Given the description of an element on the screen output the (x, y) to click on. 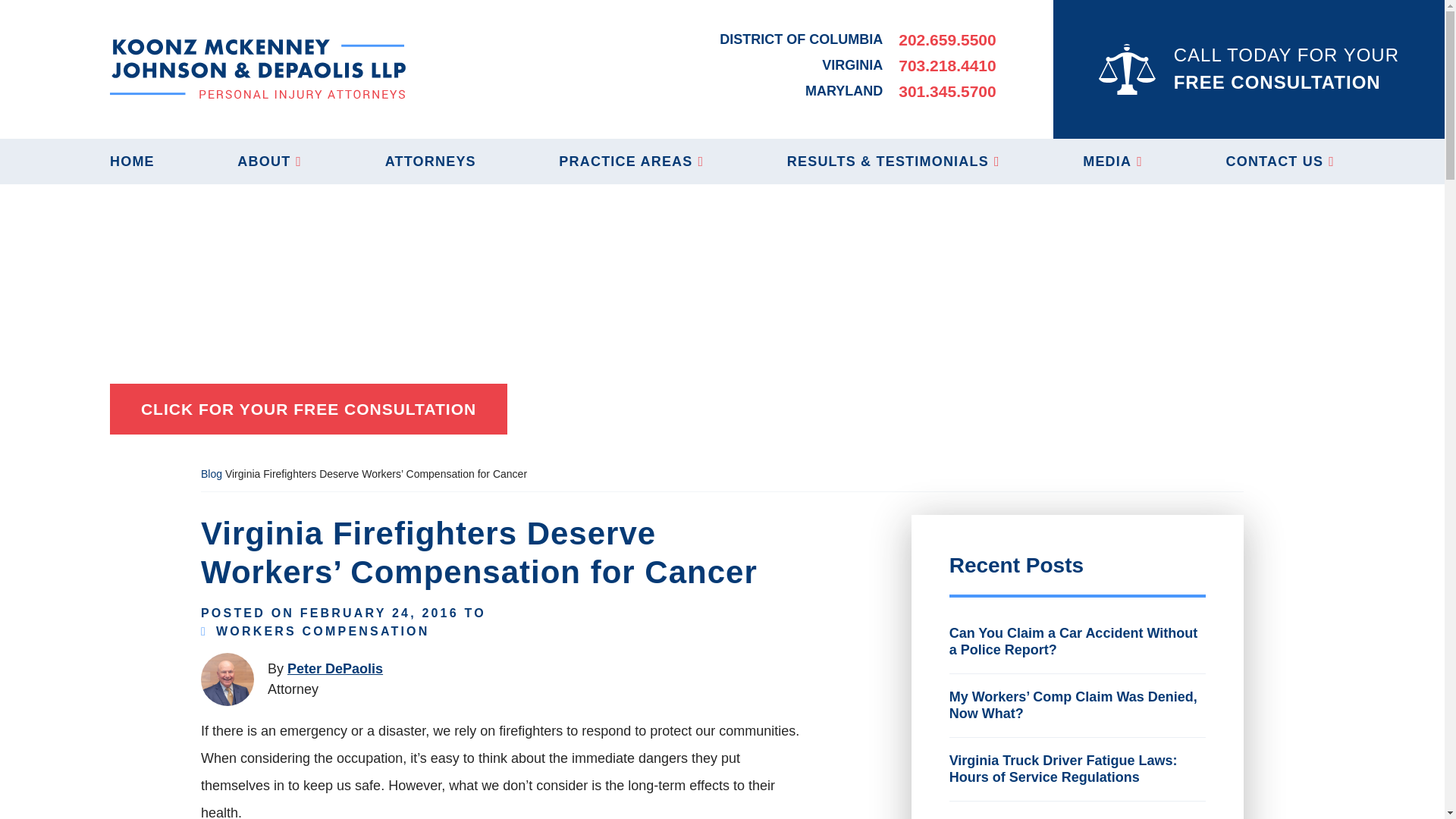
WORKERS COMPENSATION (322, 631)
ABOUT (269, 161)
Blog (211, 473)
Peter DePaolis (334, 668)
202.659.5500 (946, 39)
MEDIA (1113, 161)
703.218.4410 (946, 65)
Return home (258, 68)
ATTORNEYS (430, 161)
301.345.5700 (946, 90)
HOME (132, 161)
CONTACT US (1280, 161)
PRACTICE AREAS (631, 161)
CLICK FOR YOUR FREE CONSULTATION (308, 409)
FEBRUARY 24, 2016 (378, 612)
